Given the description of an element on the screen output the (x, y) to click on. 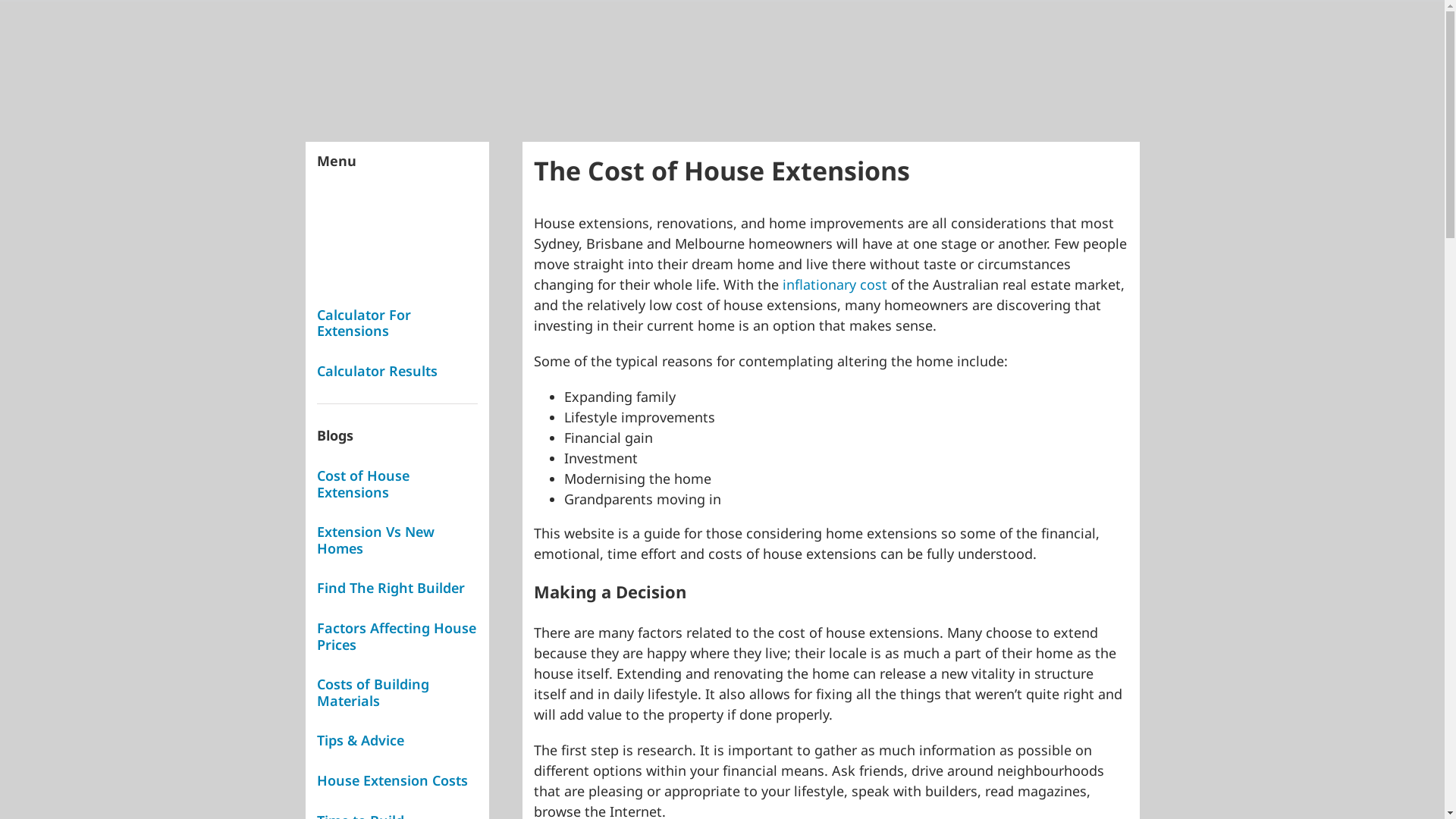
Calculator For Extensions Element type: text (363, 322)
Cost of House Extensions Element type: text (362, 483)
Costs of Building Materials Element type: text (372, 691)
Factors Affecting House Prices Element type: text (396, 635)
Tips & Advice Element type: text (360, 740)
Find The Right Builder Element type: text (390, 587)
Calculator Results Element type: text (376, 370)
House Extension Costs Element type: text (391, 780)
inflationary cost Element type: text (834, 284)
Extension Vs New Homes Element type: text (375, 539)
